Given the description of an element on the screen output the (x, y) to click on. 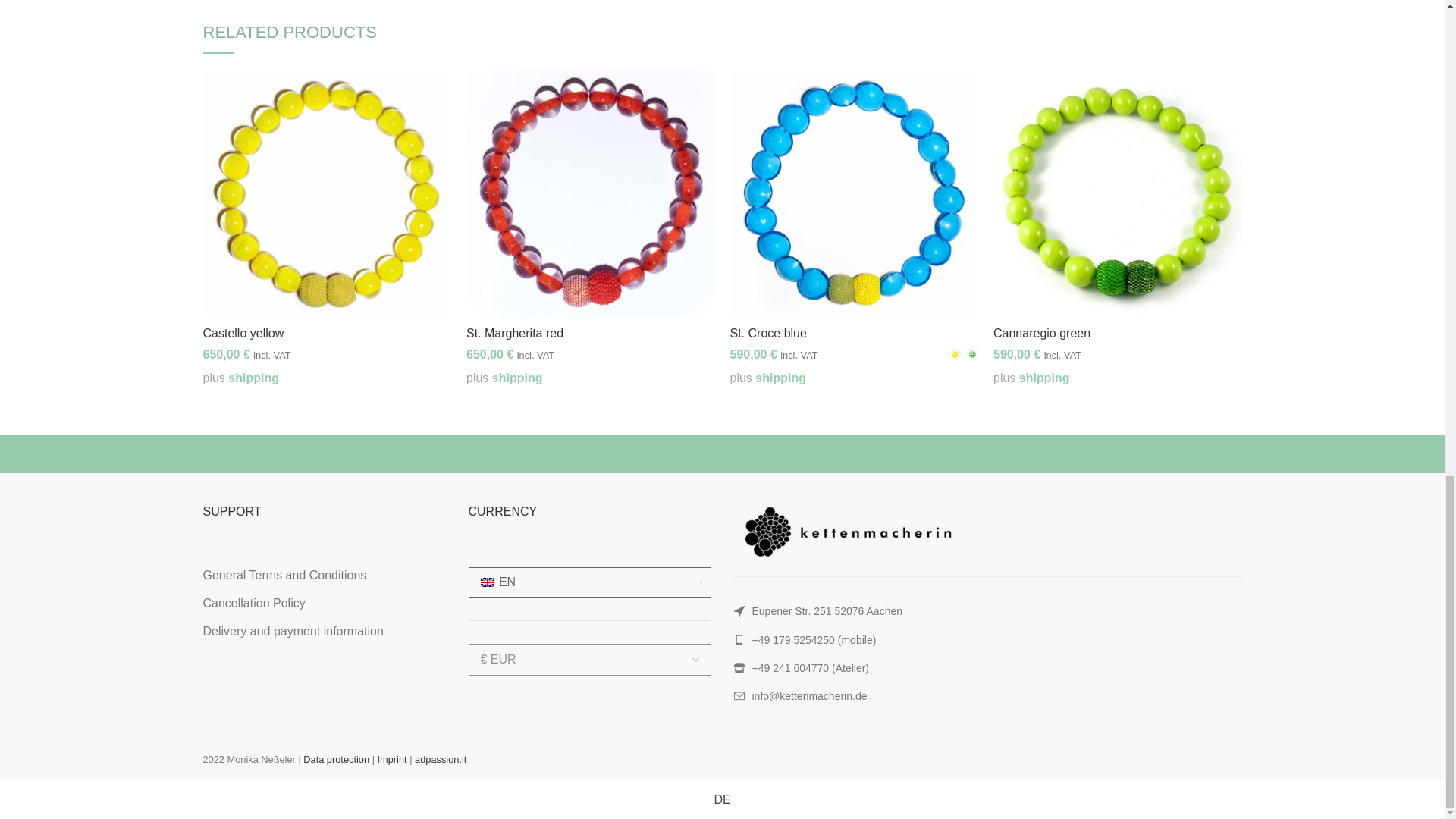
wd-phone-dark (738, 639)
wd-cursor-dark (738, 611)
wd-envelope-dark (738, 696)
